Given the description of an element on the screen output the (x, y) to click on. 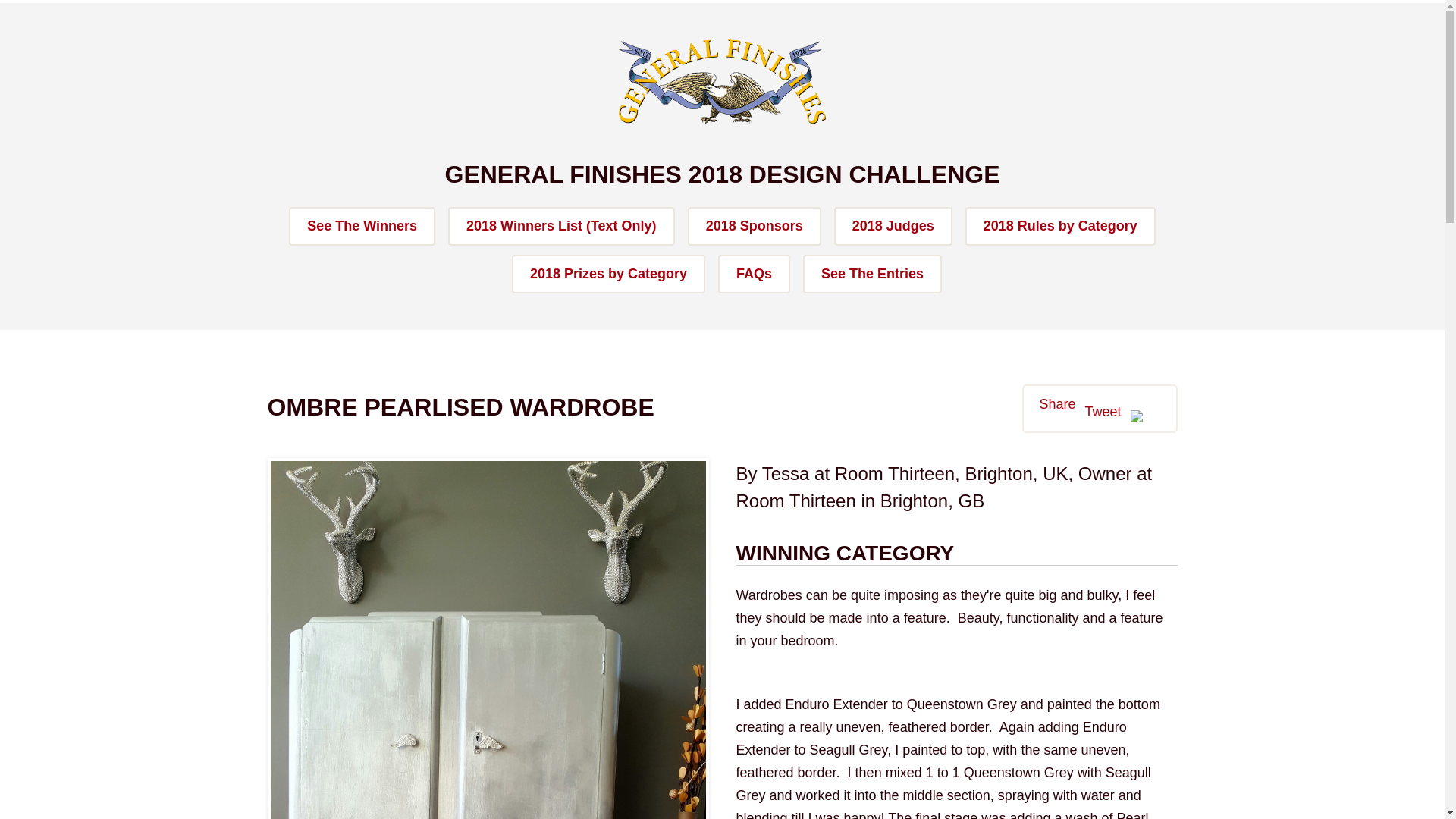
GENERAL FINISHES (721, 81)
See The Winners (361, 226)
2018 Judges (893, 226)
Share (1057, 403)
Tweet (1102, 411)
2018 Sponsors (754, 226)
FAQs (753, 273)
2018 Prizes by Category (608, 273)
2018 Rules by Category (1060, 226)
See The Entries (872, 273)
